Given the description of an element on the screen output the (x, y) to click on. 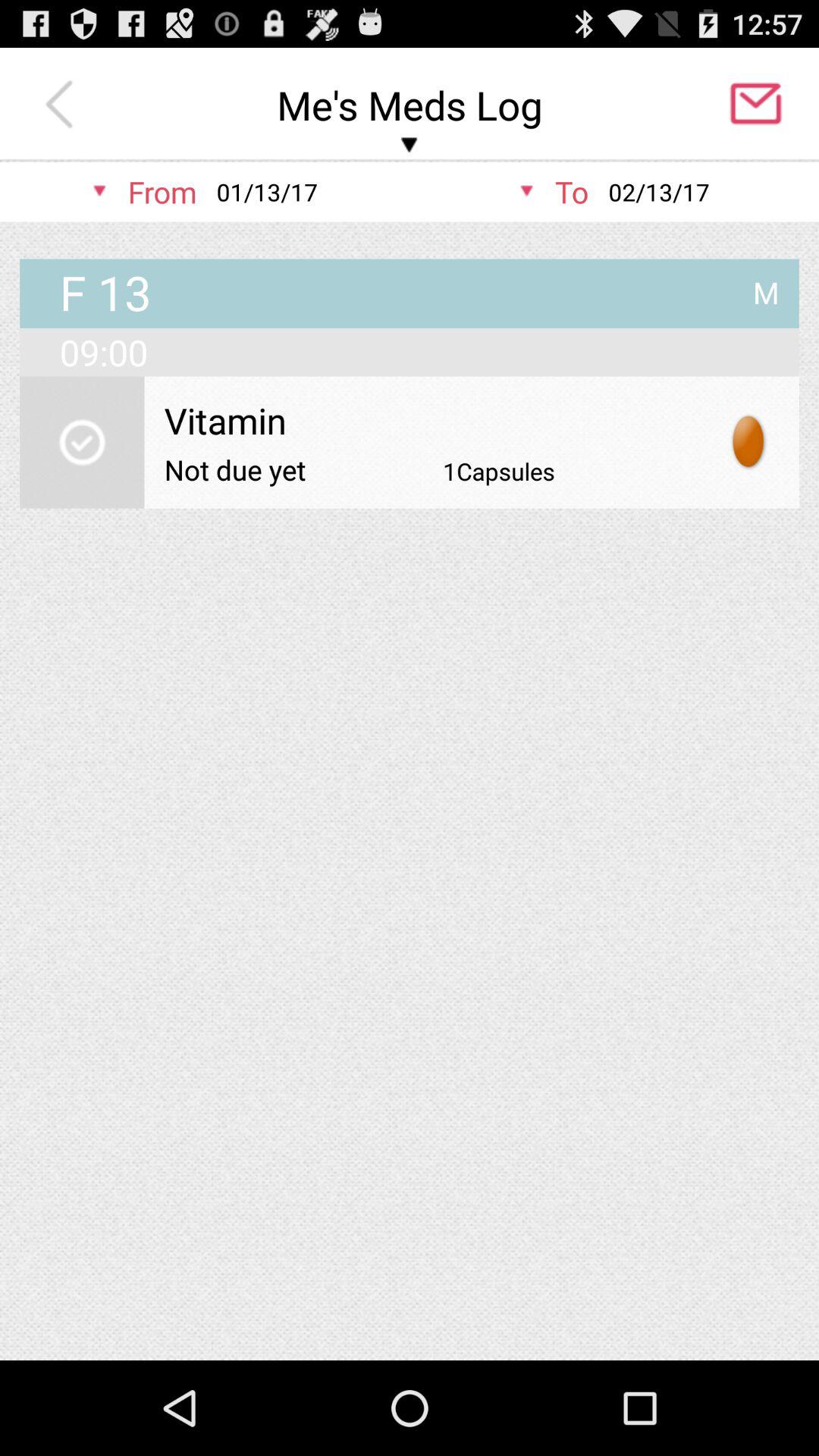
turn on the icon above not due yet (431, 420)
